Given the description of an element on the screen output the (x, y) to click on. 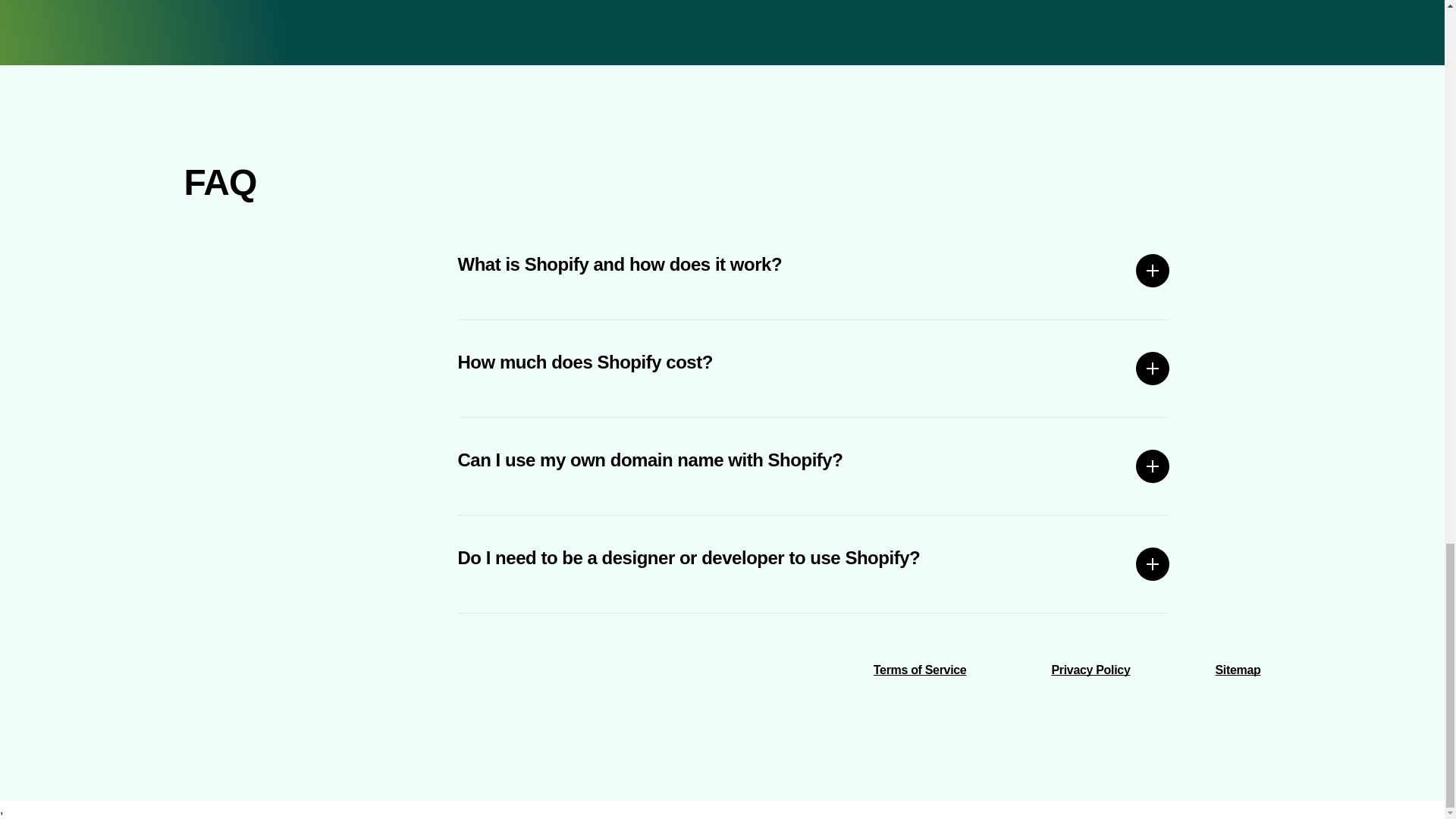
Terms of Service (919, 669)
What is Shopify and how does it work? (814, 270)
Privacy Policy (1090, 669)
Do I need to be a designer or developer to use Shopify? (814, 564)
How much does Shopify cost? (814, 368)
Can I use my own domain name with Shopify? (814, 465)
Sitemap (1237, 669)
